Given the description of an element on the screen output the (x, y) to click on. 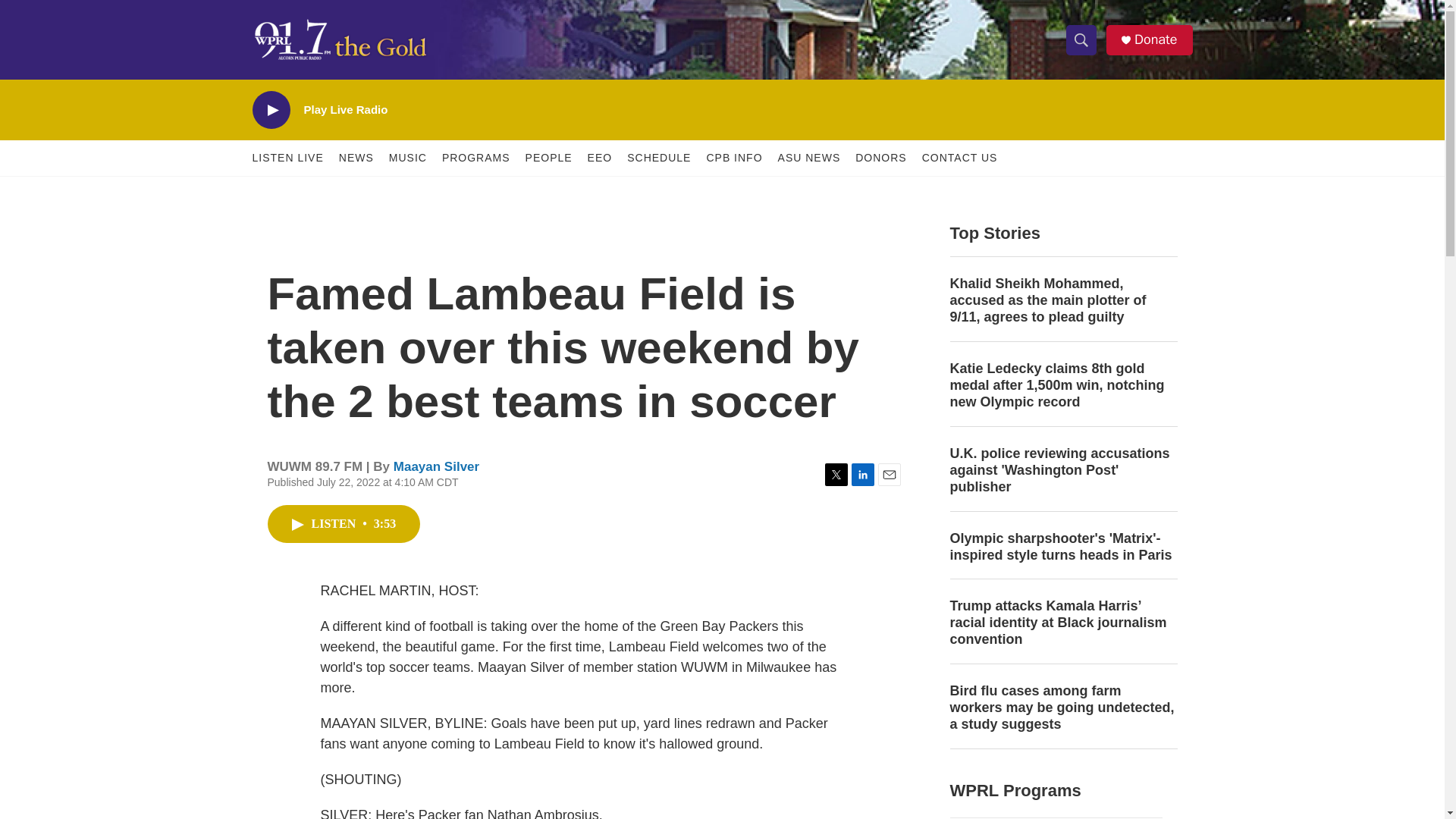
Twitter (836, 474)
SCHEDULE (658, 158)
NEWS (356, 158)
Show Search (1080, 39)
LISTEN LIVE (287, 158)
ASU NEWS (809, 158)
LinkedIn (861, 474)
Maayan Silver (436, 466)
CPB INFO (733, 158)
DONORS (880, 158)
CONTACT US (959, 158)
Donate (1155, 39)
PROGRAMS (476, 158)
MUSIC (407, 158)
Email (889, 474)
